Given the description of an element on the screen output the (x, y) to click on. 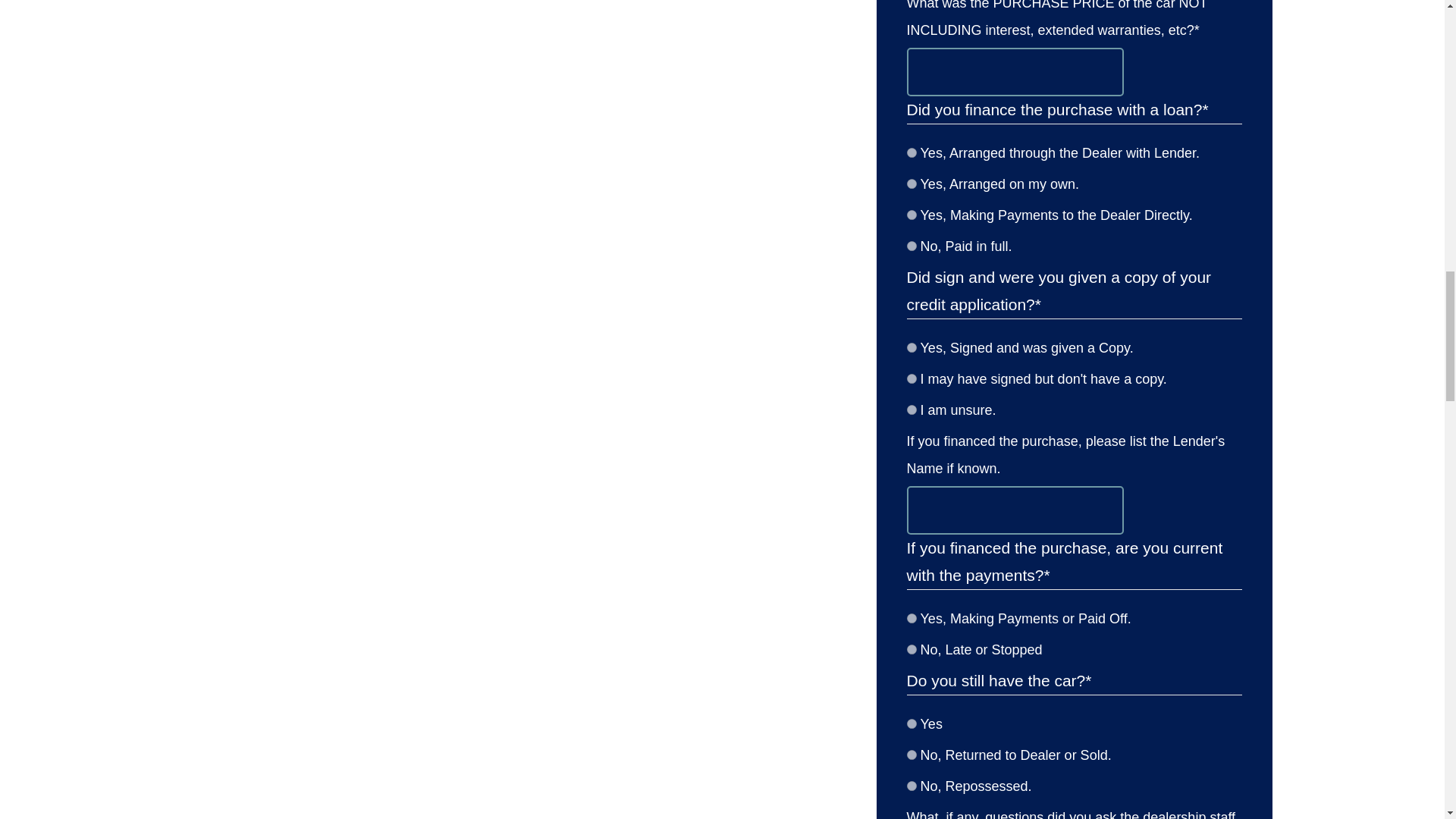
Yes, Making Payments to the Dealer Directly. (912, 214)
Yes, Arranged on my own. (912, 184)
Yes, Arranged through the Dealer with Lender. (912, 153)
